Given the description of an element on the screen output the (x, y) to click on. 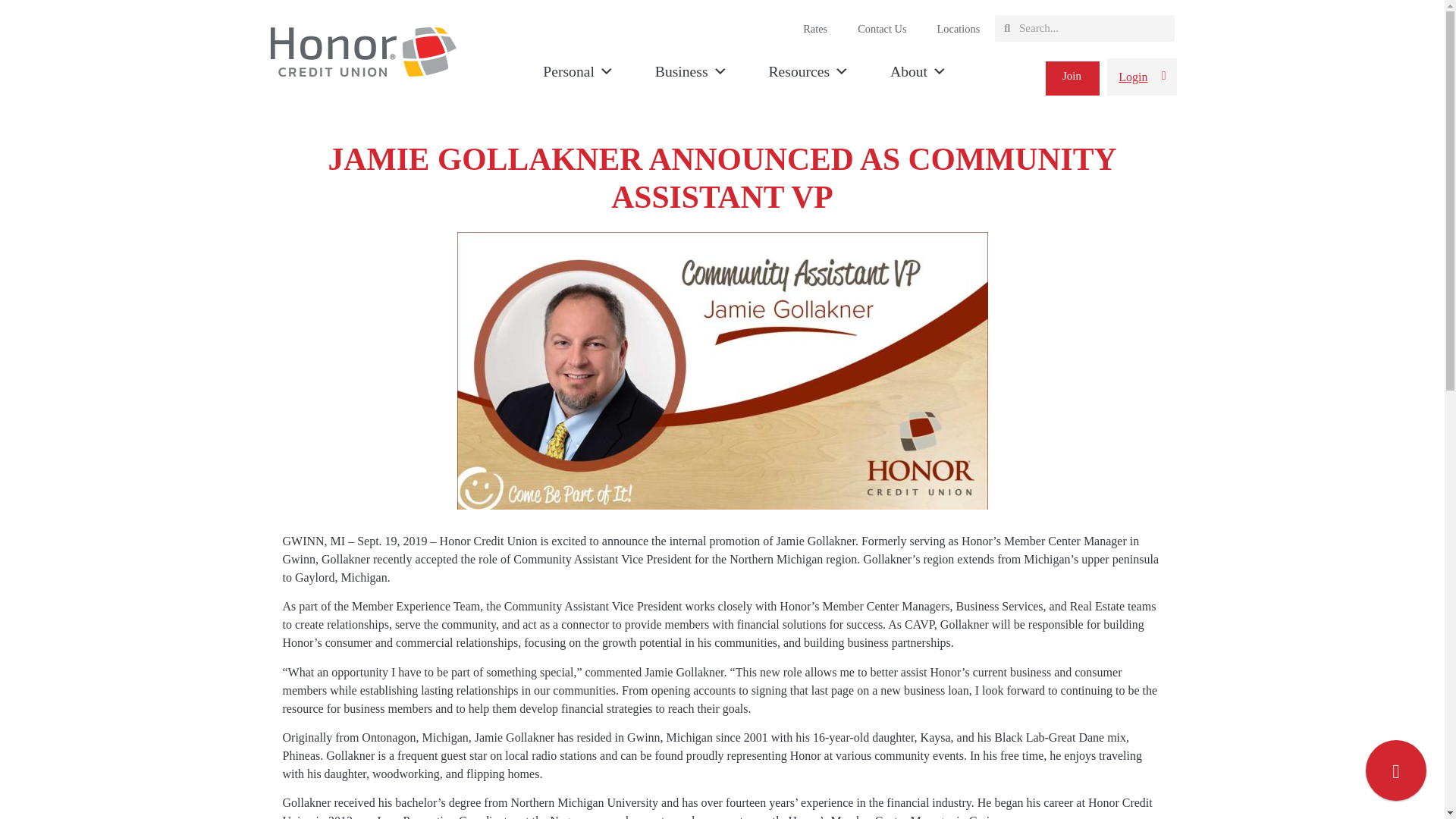
Rates (815, 28)
Locations (958, 28)
Personal (577, 70)
Contact Us (882, 28)
